Given the description of an element on the screen output the (x, y) to click on. 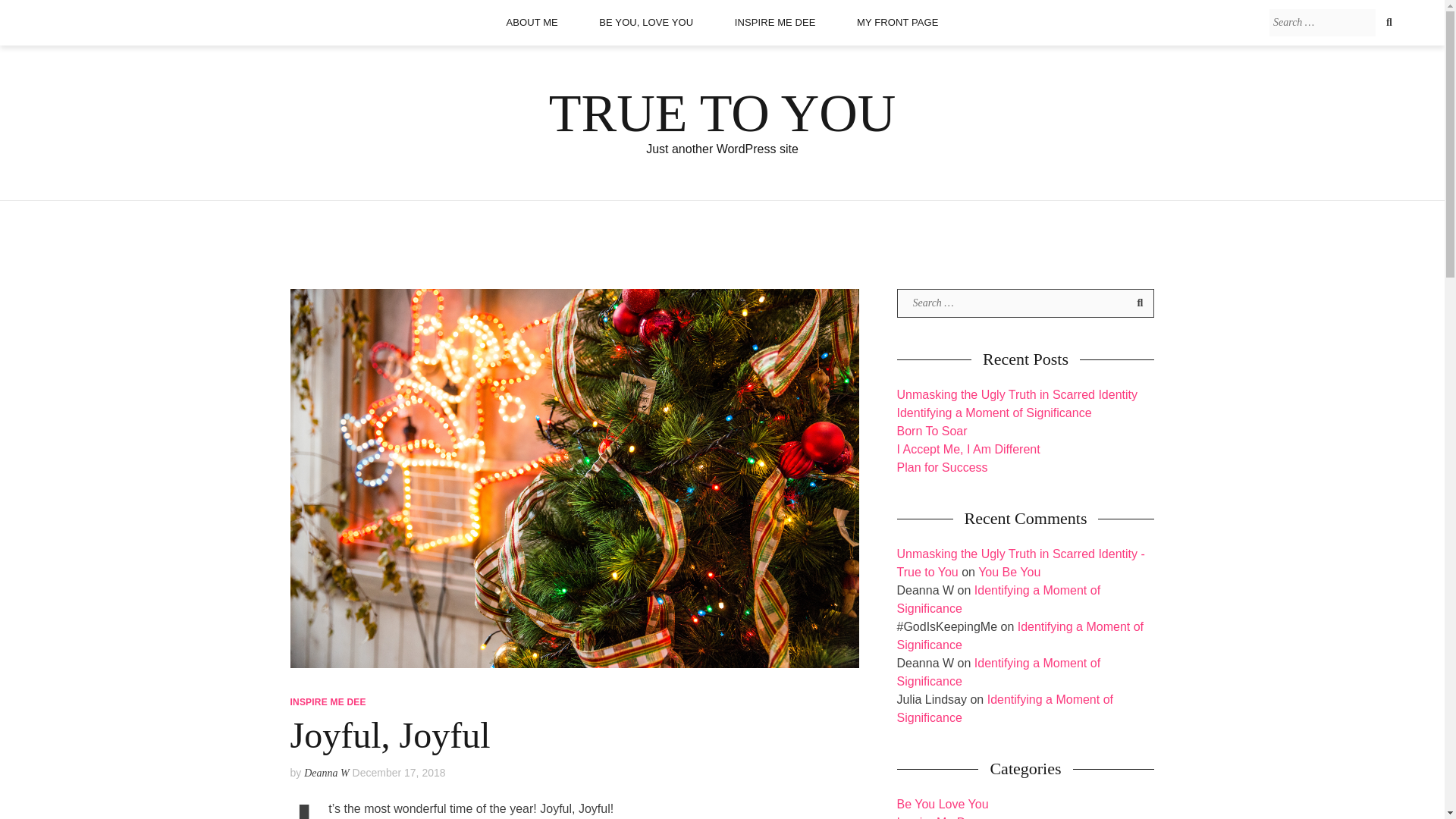
ABOUT ME (531, 22)
Identifying a Moment of Significance (1019, 635)
Inspire Me Dee (937, 817)
You Be You (1009, 571)
Plan for Success (941, 467)
TRUE TO YOU (722, 113)
Deanna W (326, 772)
Identifying a Moment of Significance (998, 599)
Identifying a Moment of Significance (998, 671)
Born To Soar (931, 431)
